Given the description of an element on the screen output the (x, y) to click on. 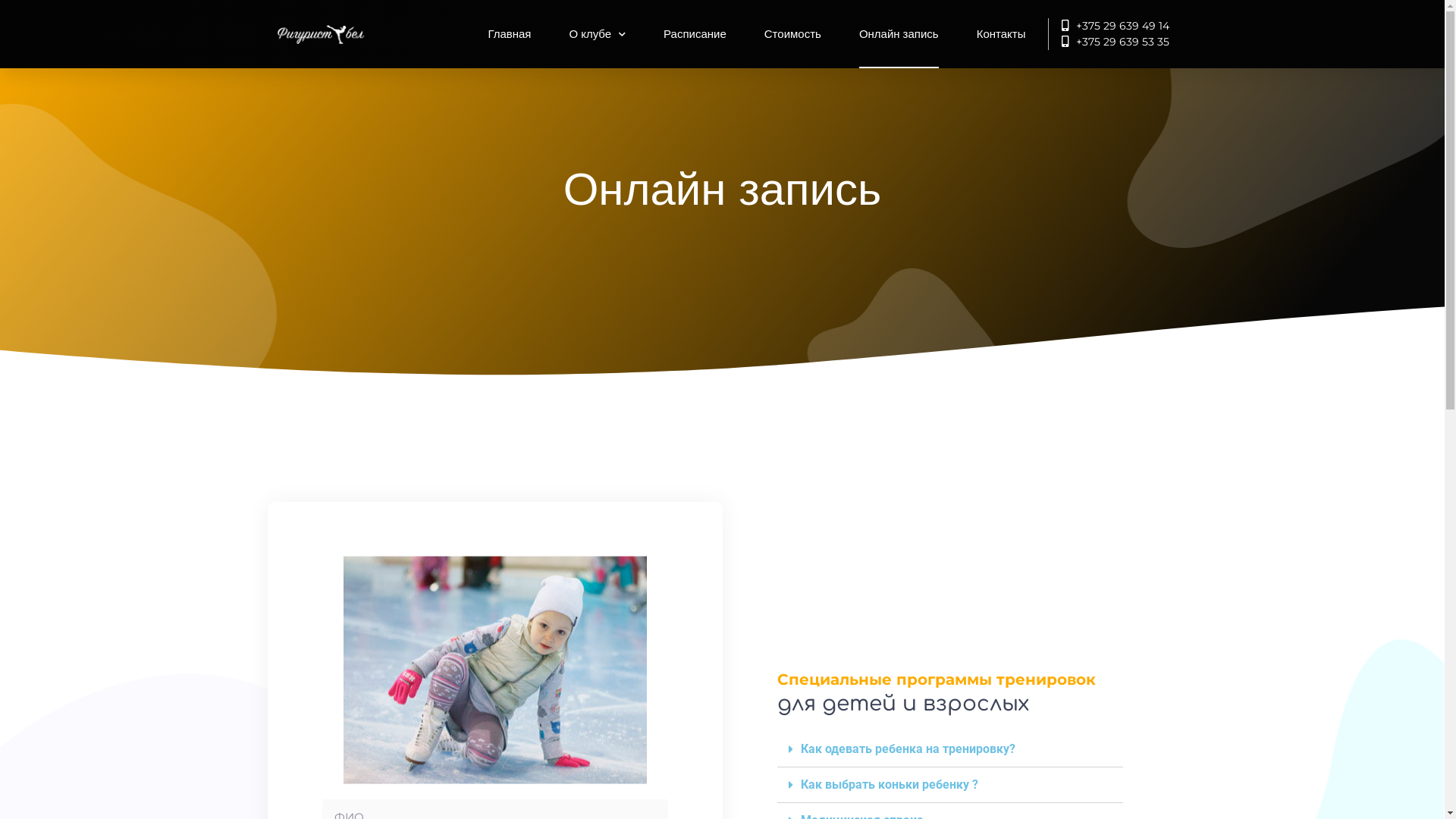
+375 29 639 53 35 Element type: text (1108, 42)
+375 29 639 49 14 Element type: text (1108, 26)
